Given the description of an element on the screen output the (x, y) to click on. 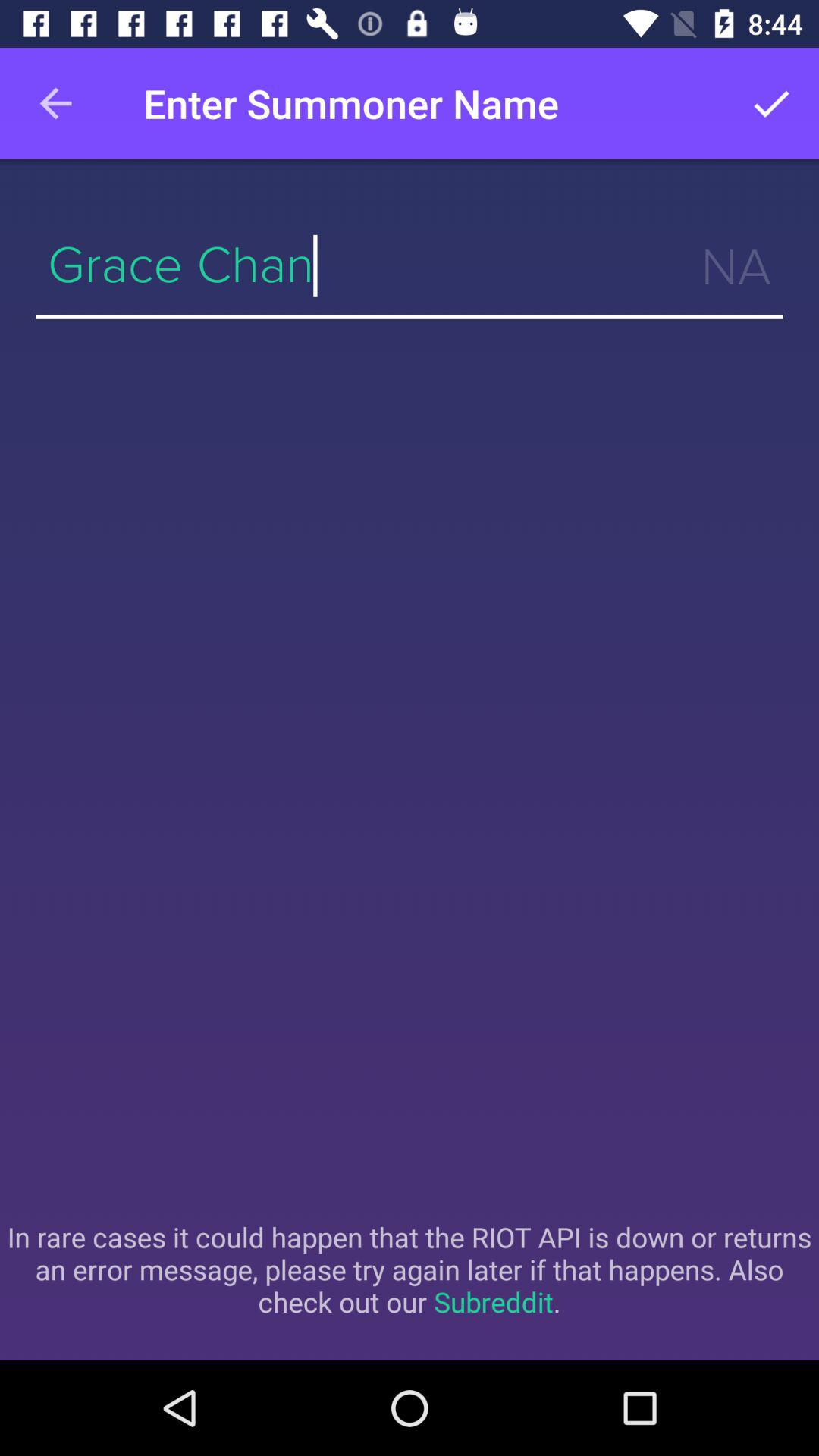
turn off in rare cases icon (409, 1269)
